Given the description of an element on the screen output the (x, y) to click on. 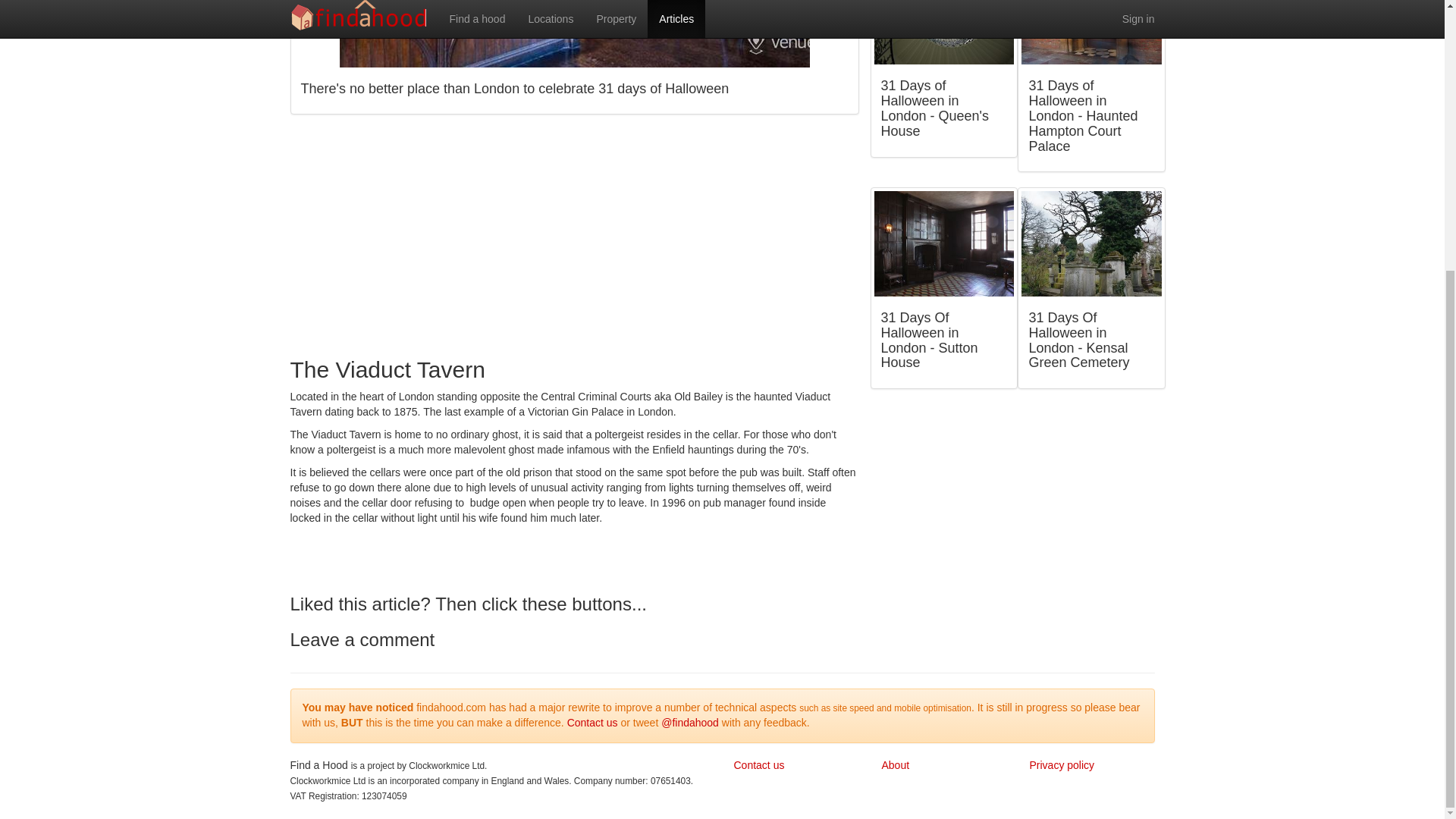
Advertisement (1017, 510)
About (894, 765)
Privacy policy (1061, 765)
Contact us (758, 765)
Contact us (592, 722)
Advertisement (574, 235)
